Given the description of an element on the screen output the (x, y) to click on. 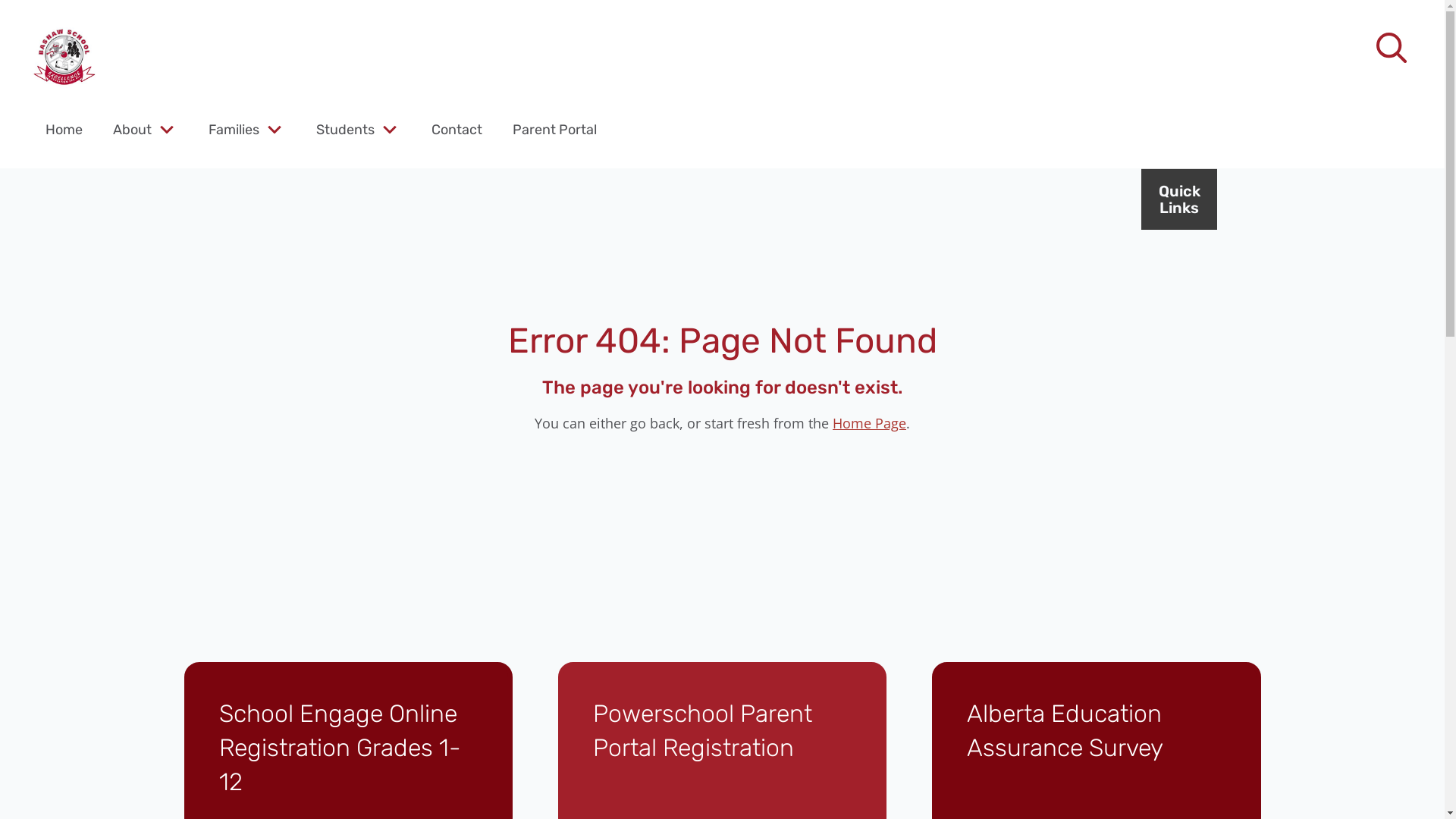
home Element type: hover (64, 56)
Search Element type: text (45, 19)
Students Element type: text (345, 129)
Families Element type: text (233, 129)
Quick Links Element type: text (1179, 198)
Home Page Element type: text (869, 423)
Parent Portal Element type: text (554, 129)
Home Element type: text (63, 129)
About Element type: text (131, 129)
Contact Element type: text (456, 129)
